Given the description of an element on the screen output the (x, y) to click on. 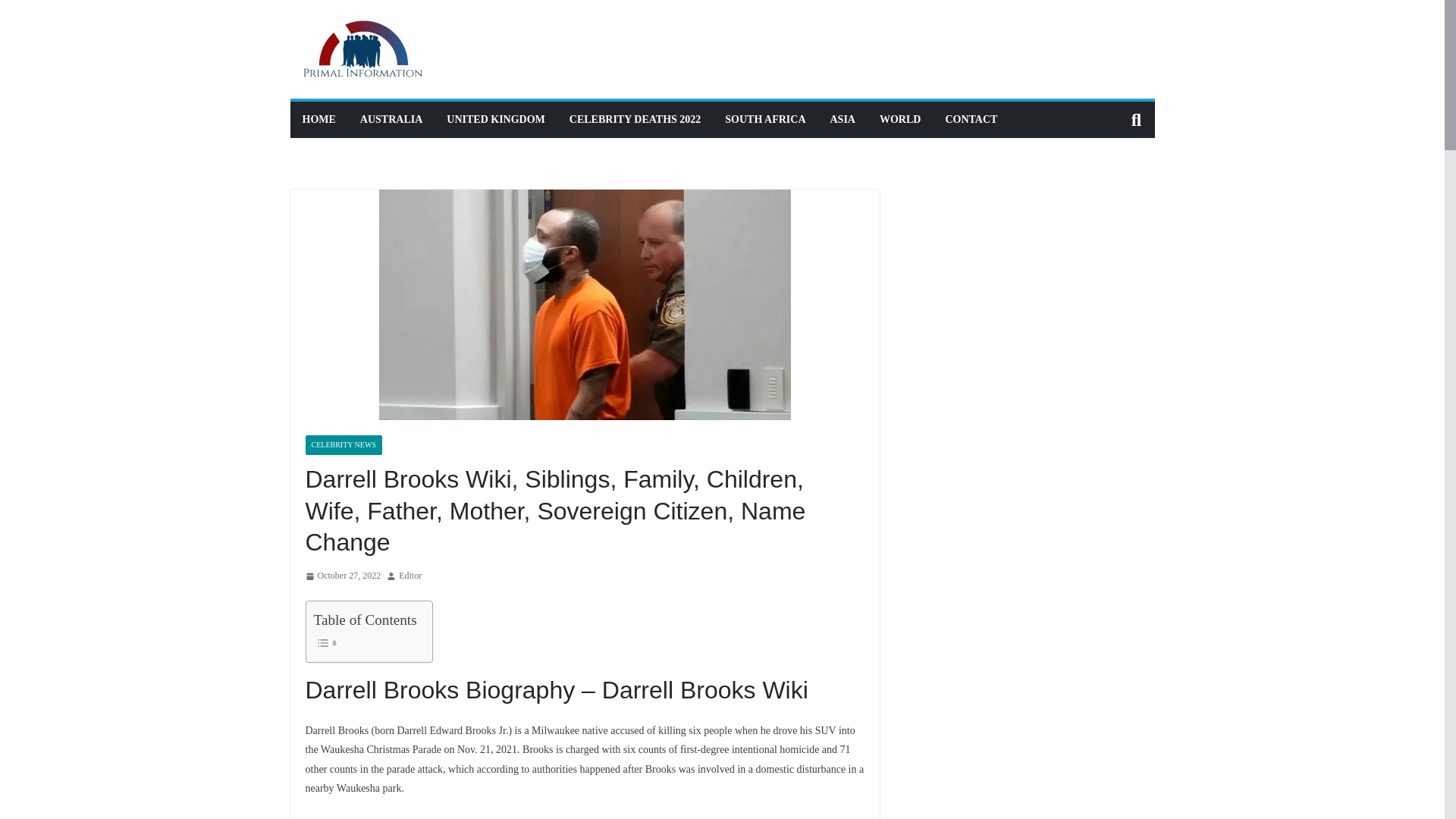
UNITED KINGDOM (495, 119)
CONTACT (970, 119)
CELEBRITY NEWS (342, 444)
ASIA (841, 119)
HOME (317, 119)
Editor (410, 576)
Editor (410, 576)
October 27, 2022 (342, 576)
1:05 pm (342, 576)
WORLD (899, 119)
